Given the description of an element on the screen output the (x, y) to click on. 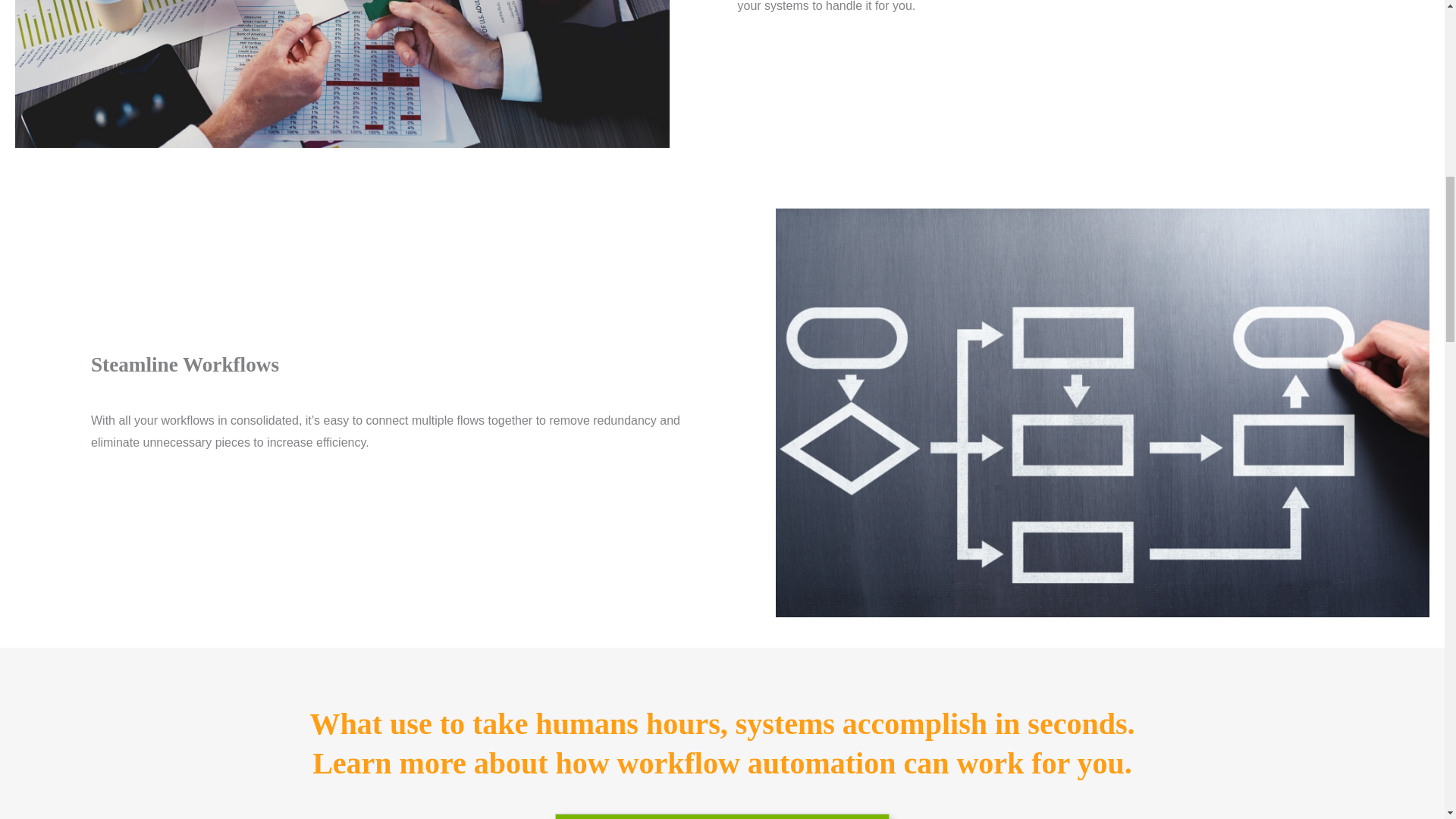
Ease of Integration (341, 74)
